Given the description of an element on the screen output the (x, y) to click on. 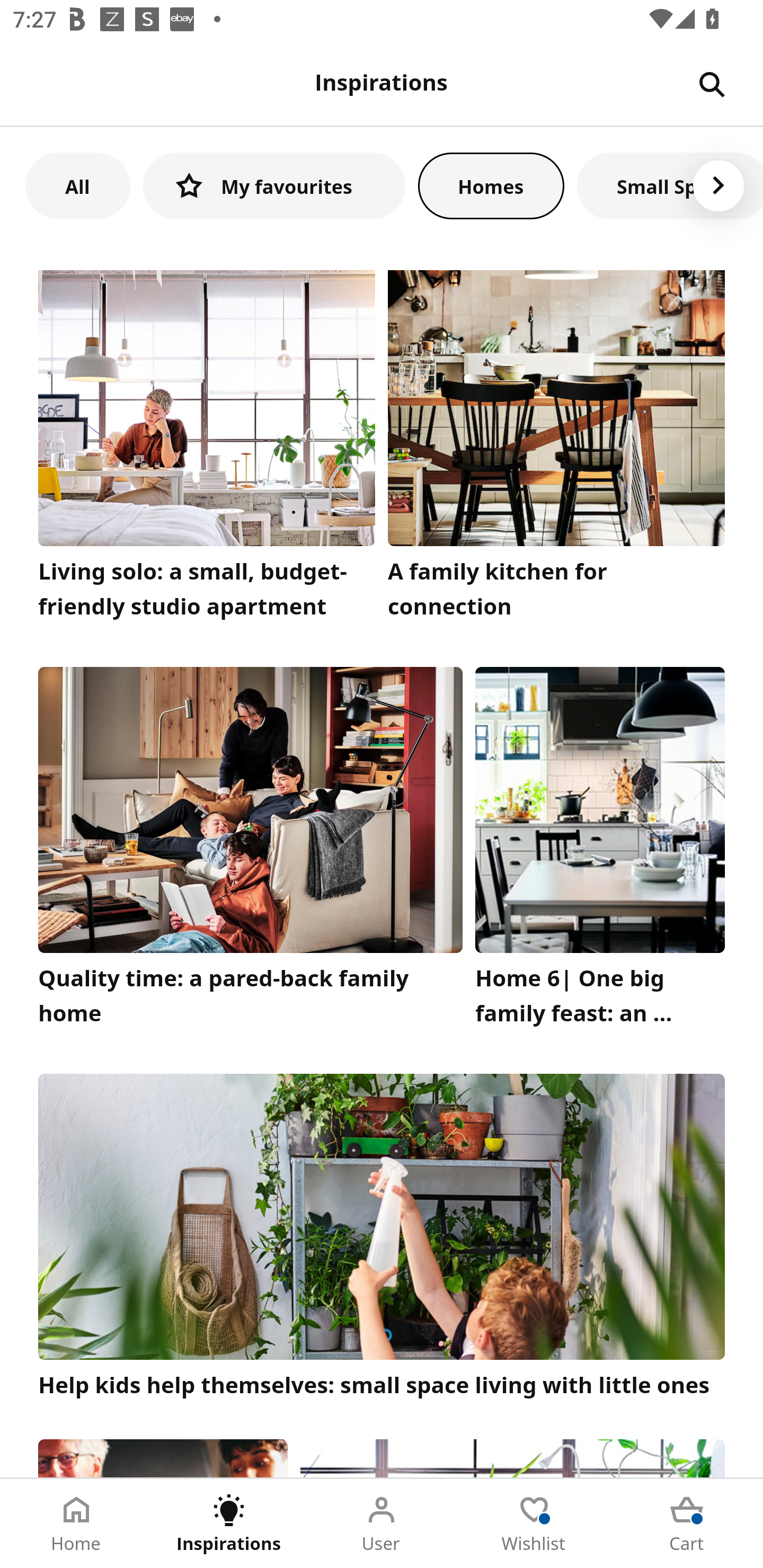
All (77, 185)
My favourites (274, 185)
Homes (491, 185)
A family kitchen for connection (555, 448)
Quality time: a pared-back family home (250, 850)
Home
Tab 1 of 5 (76, 1522)
Inspirations
Tab 2 of 5 (228, 1522)
User
Tab 3 of 5 (381, 1522)
Wishlist
Tab 4 of 5 (533, 1522)
Cart
Tab 5 of 5 (686, 1522)
